Given the description of an element on the screen output the (x, y) to click on. 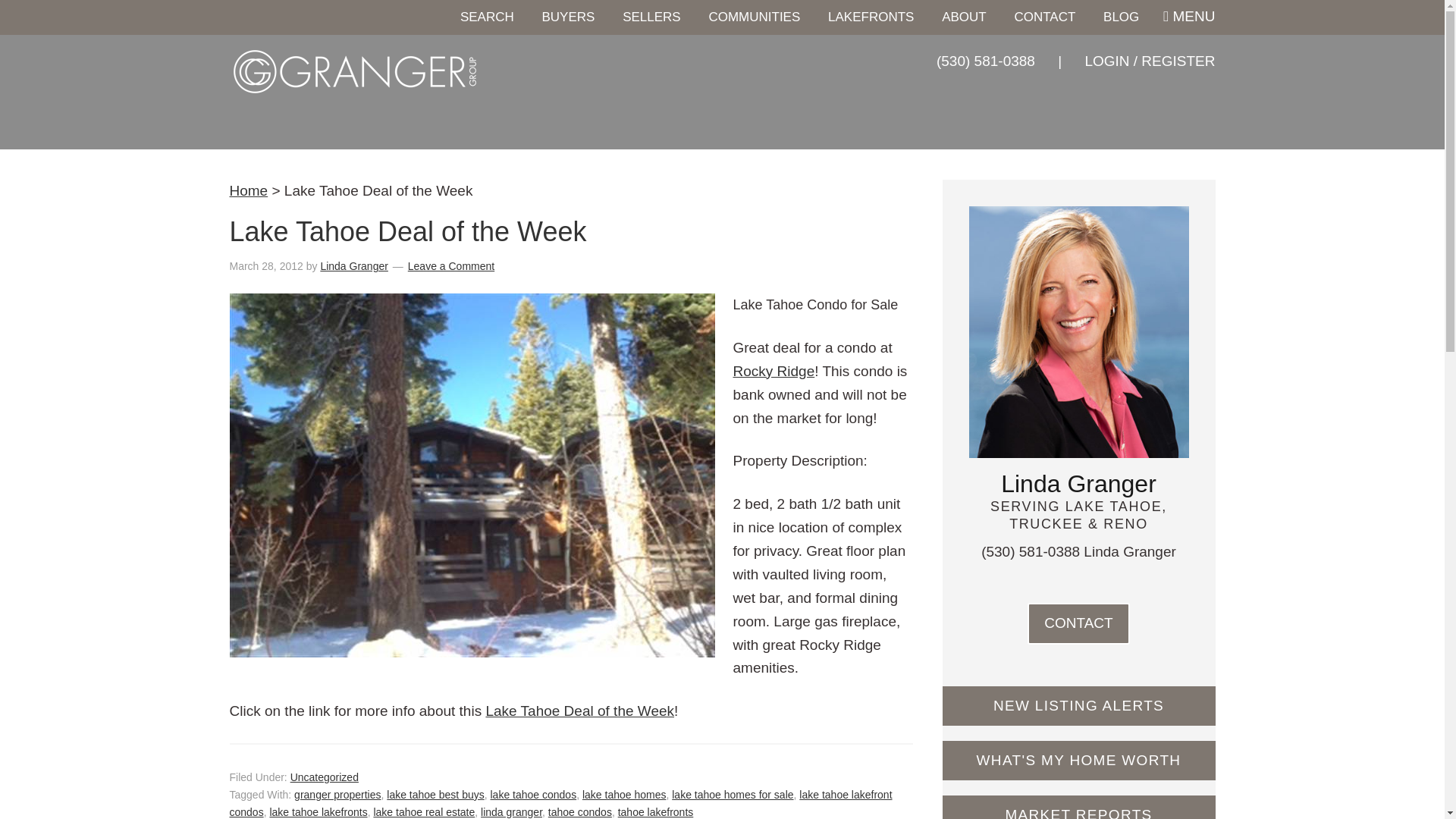
COMMUNITIES (753, 17)
SEARCH (486, 17)
SELLERS (651, 17)
BUYERS (568, 17)
